Given the description of an element on the screen output the (x, y) to click on. 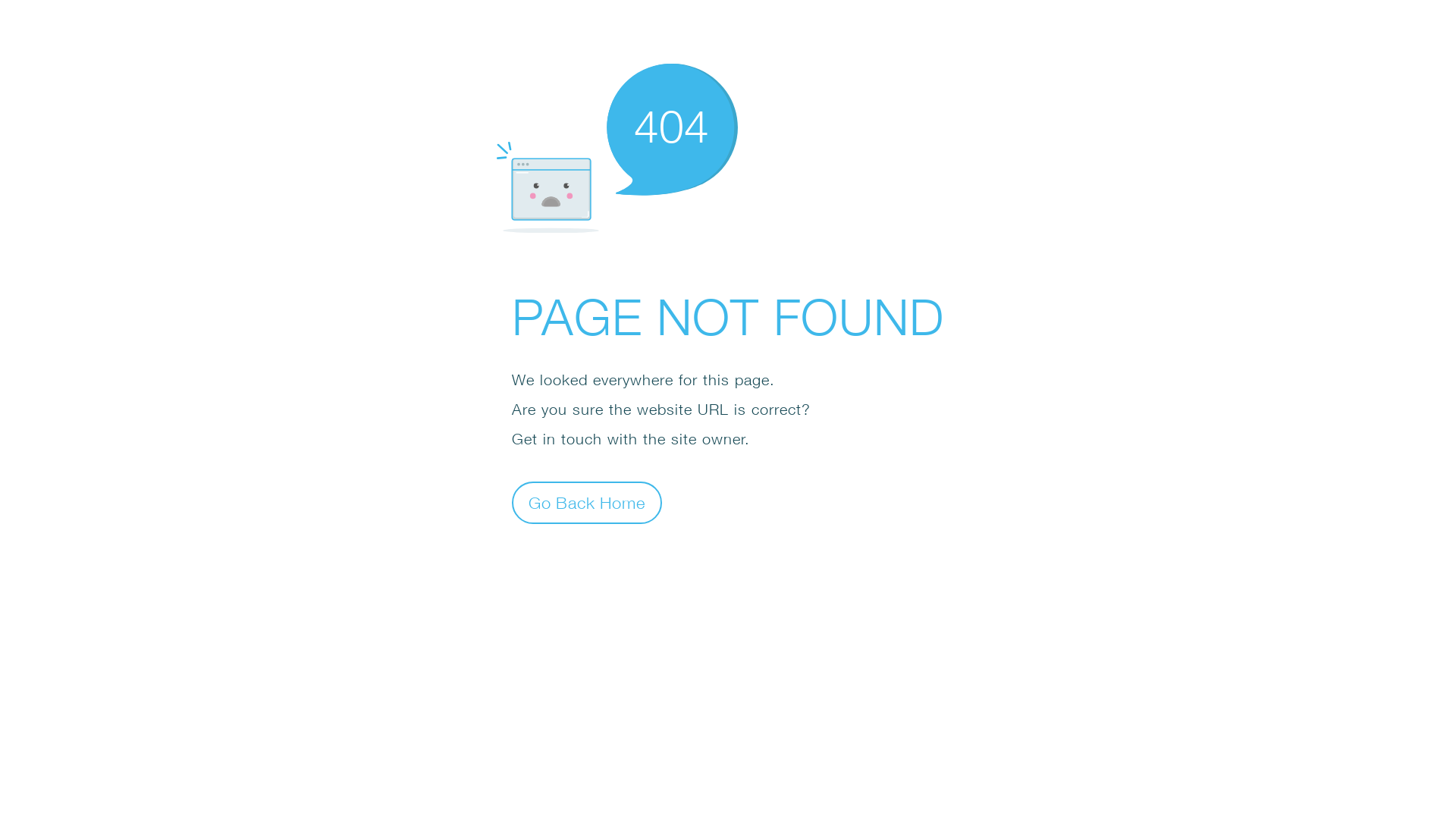
Go Back Home Element type: text (586, 502)
